Given the description of an element on the screen output the (x, y) to click on. 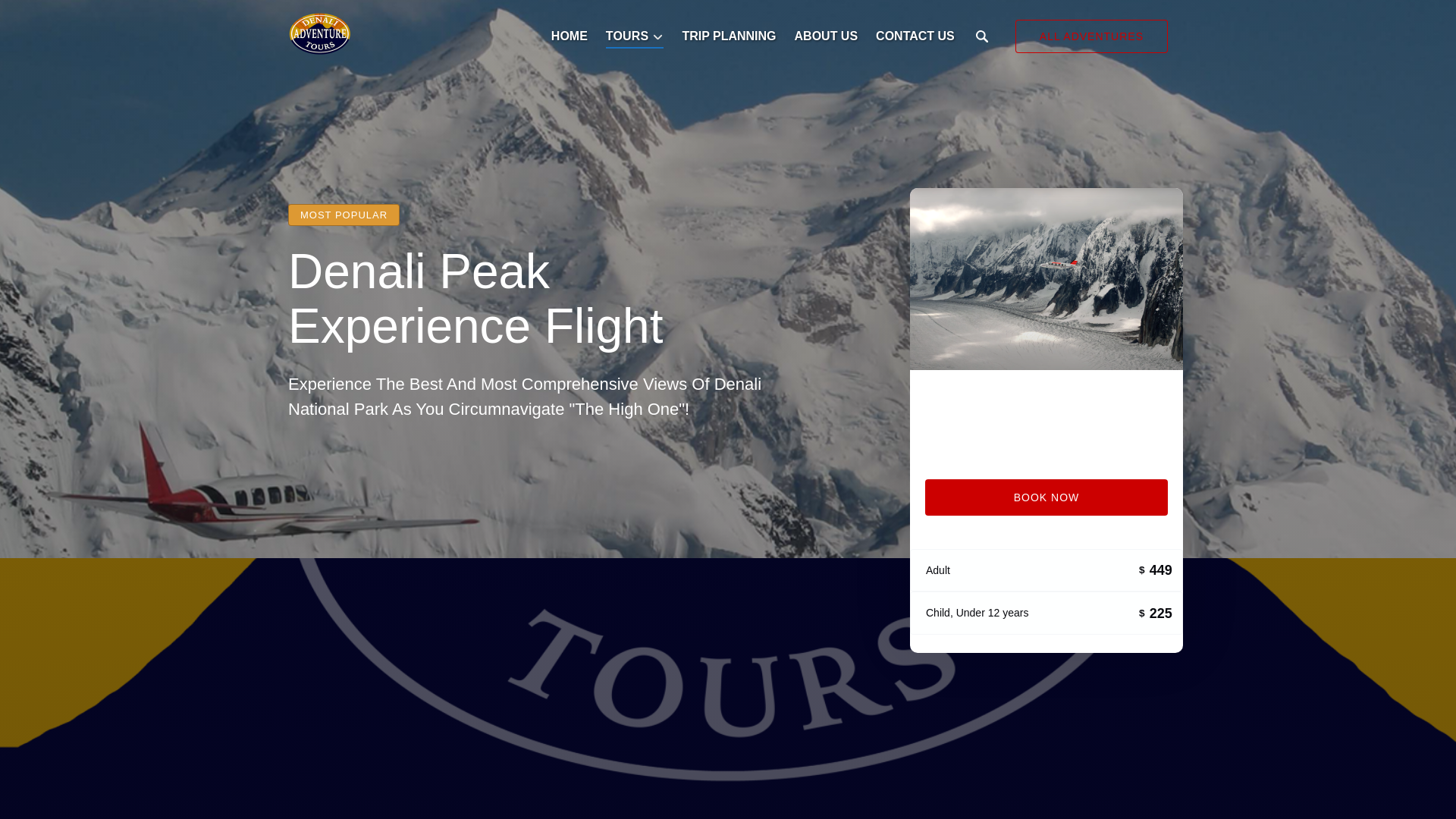
TRIP PLANNING (728, 35)
Skip to footer (42, 16)
ABOUT US (826, 35)
Skip to content (47, 16)
TOURS (634, 35)
CONTACT US (914, 35)
Skip to primary navigation (77, 16)
HOME (568, 35)
Open Tours Menu (638, 32)
